Given the description of an element on the screen output the (x, y) to click on. 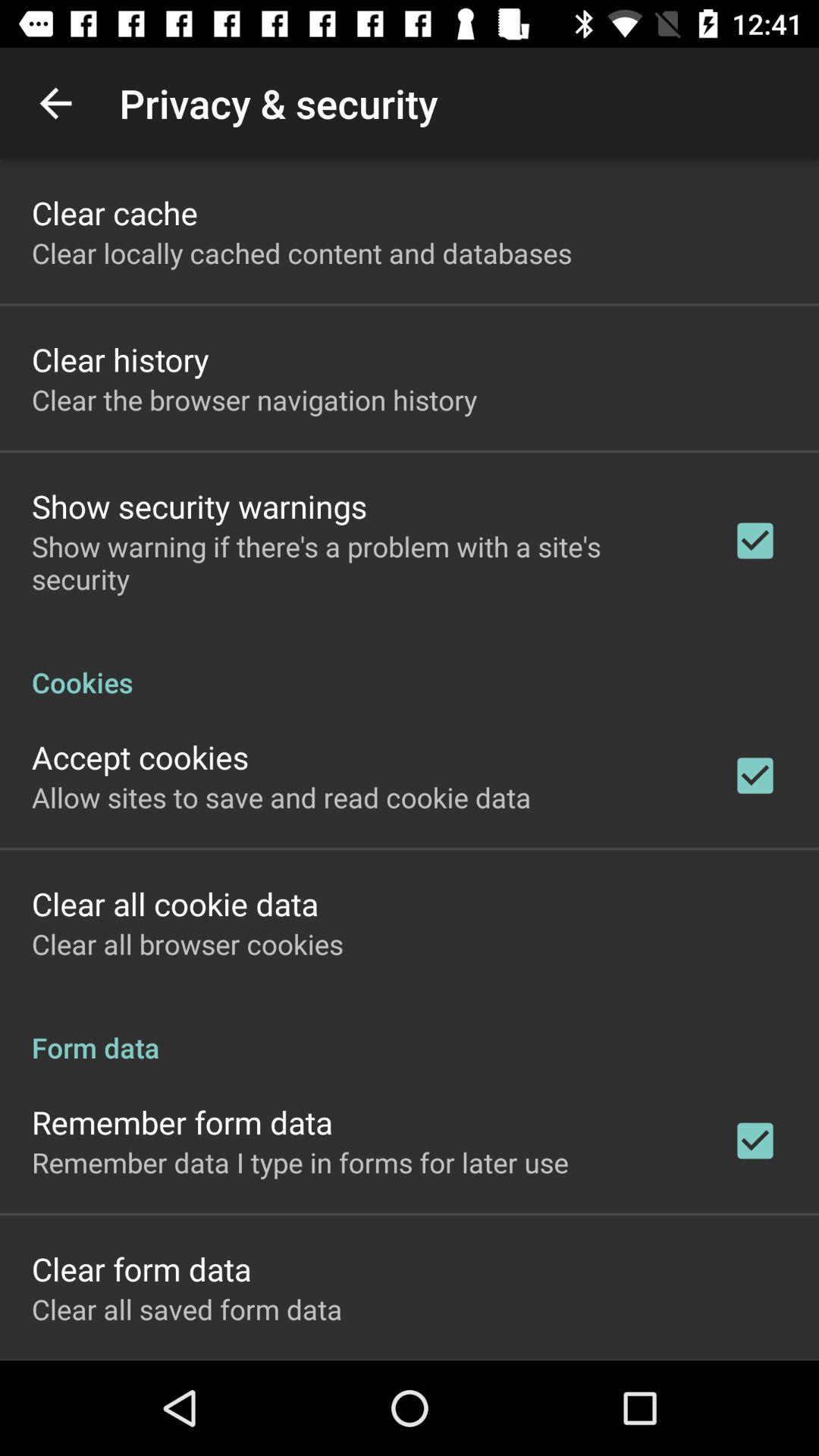
press the allow sites to icon (281, 797)
